Given the description of an element on the screen output the (x, y) to click on. 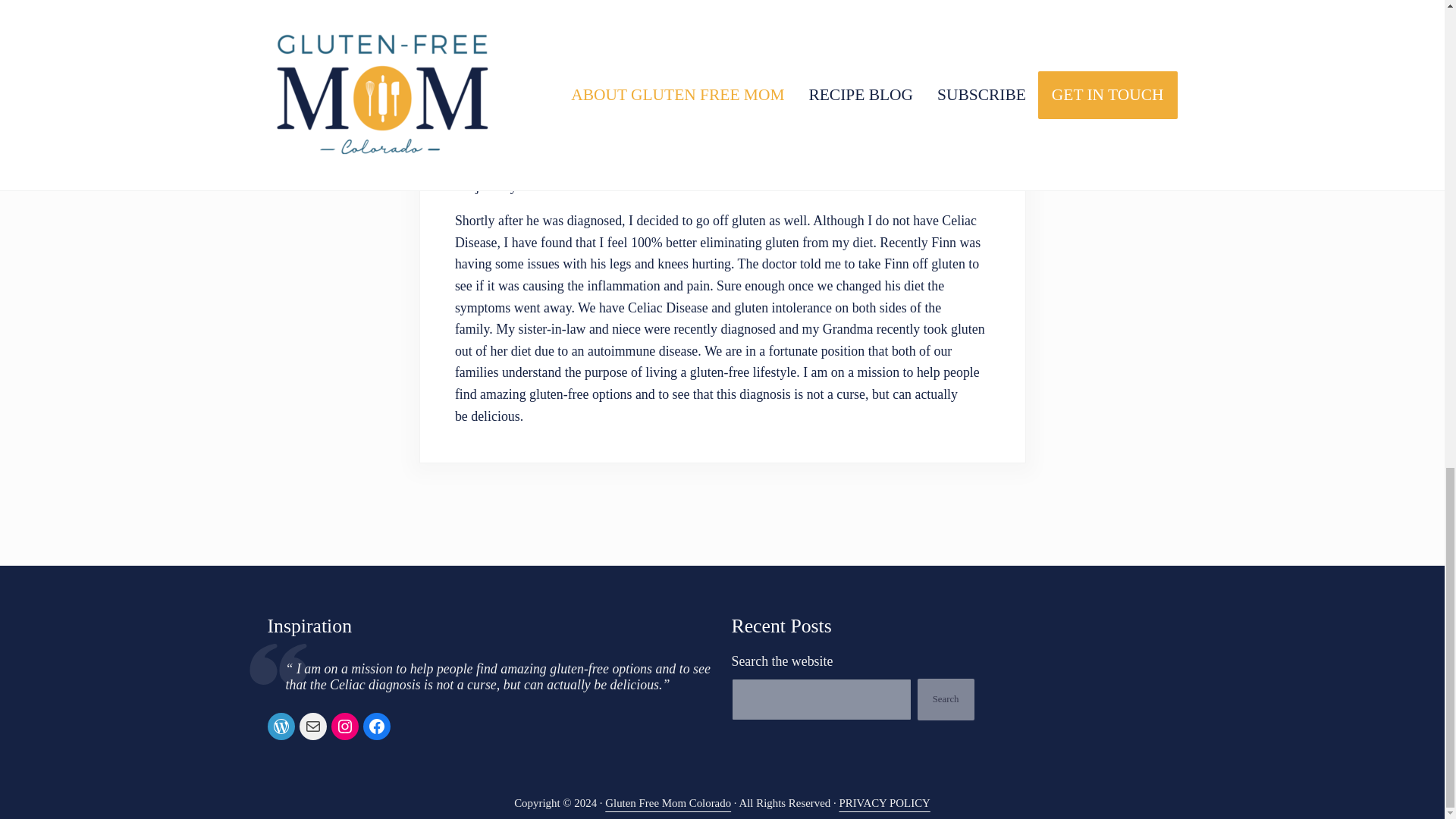
Instagram (344, 726)
Gluten Free Mom Colorado (667, 802)
WordPress (280, 726)
PRIVACY POLICY (884, 802)
Mail (312, 726)
Search (945, 699)
Facebook (376, 726)
